Given the description of an element on the screen output the (x, y) to click on. 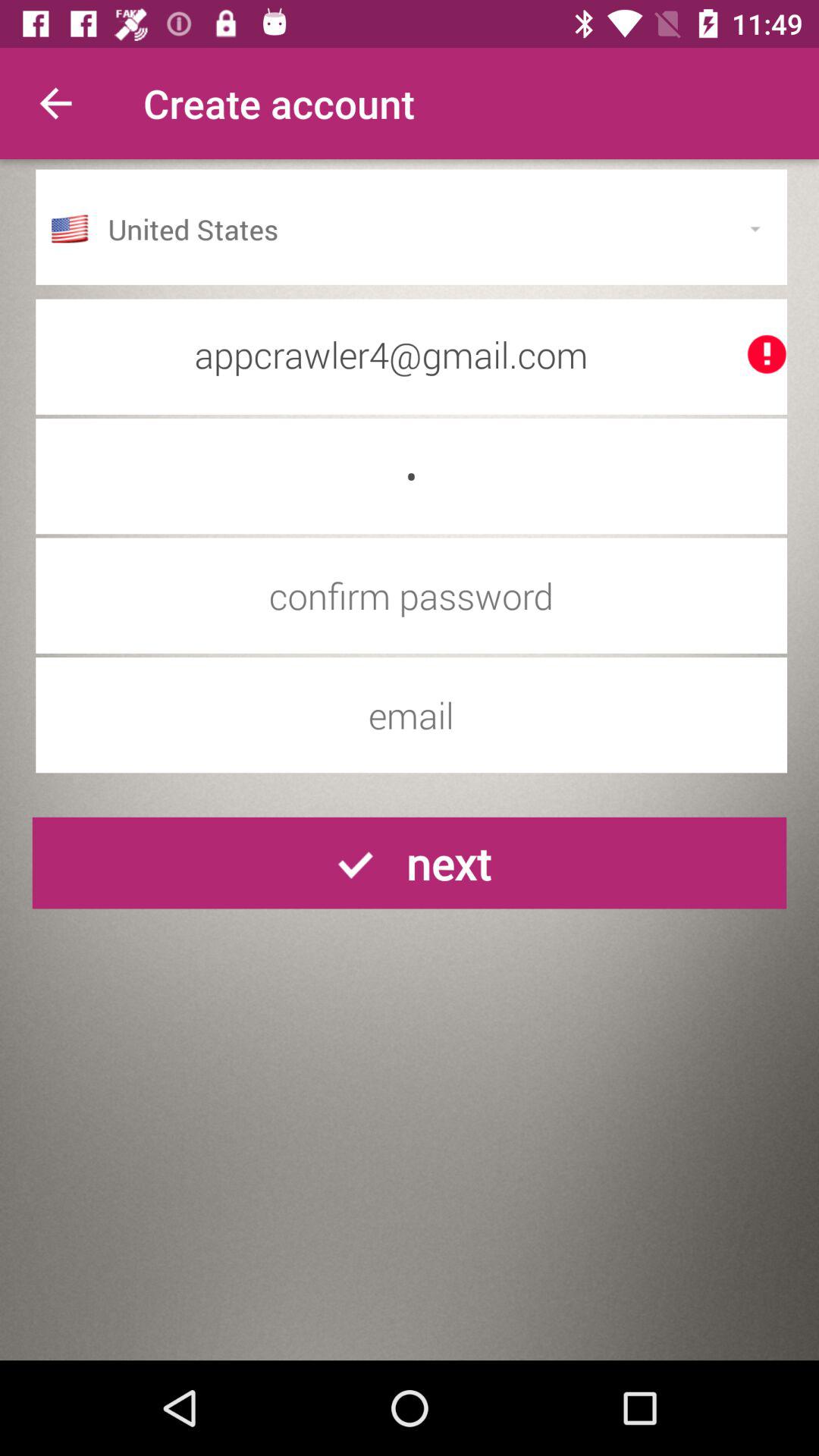
click item to the left of the create account item (55, 103)
